Given the description of an element on the screen output the (x, y) to click on. 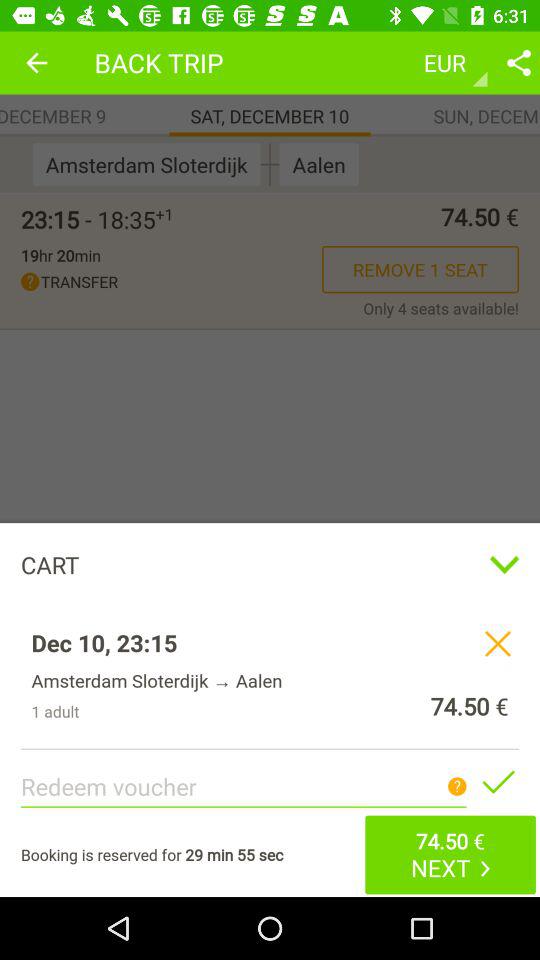
toggle app settings (519, 62)
